Given the description of an element on the screen output the (x, y) to click on. 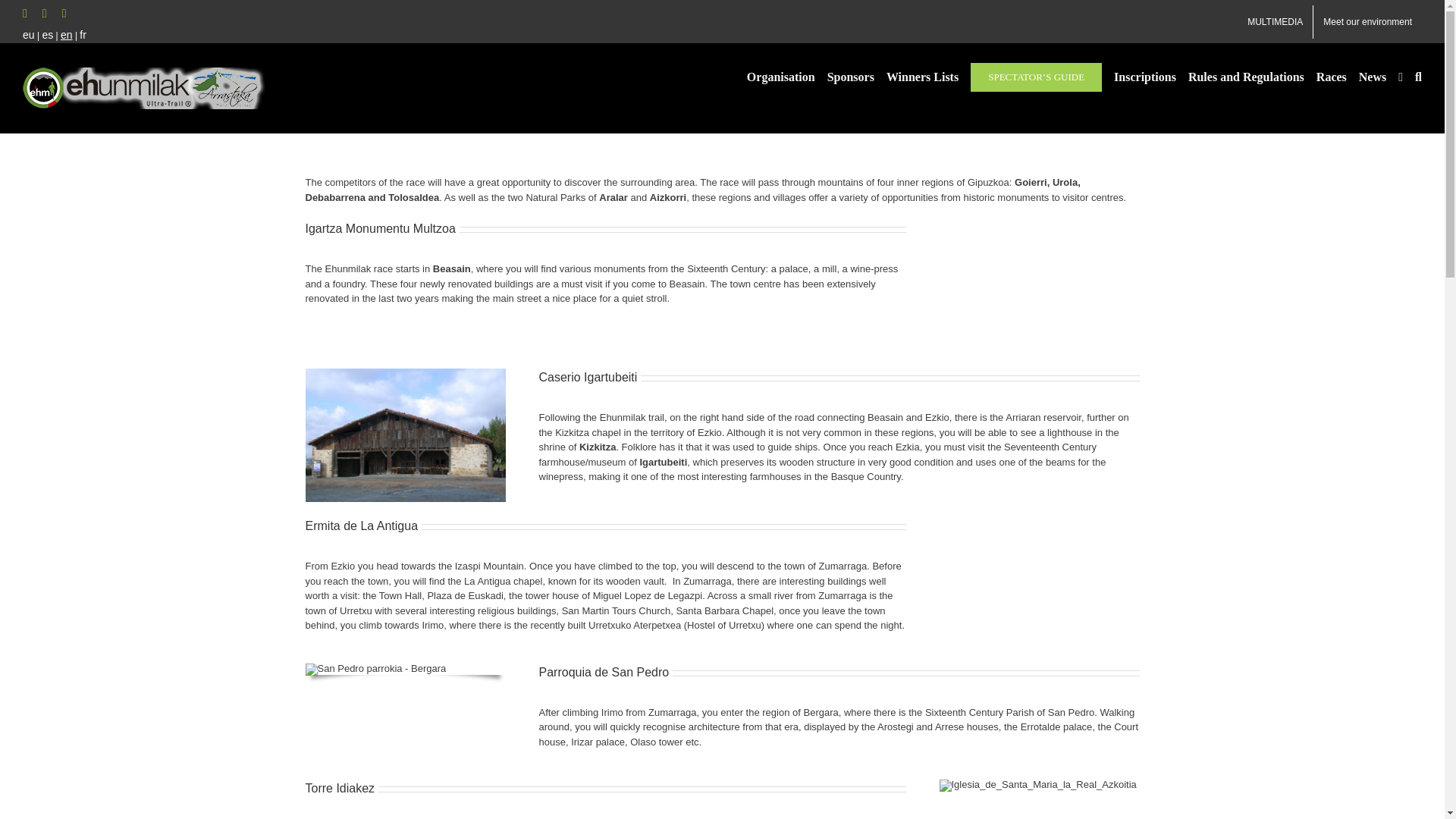
Organisation (780, 75)
Meet our environment (1367, 20)
es (47, 35)
Winners Lists (922, 75)
eu (28, 35)
MULTIMEDIA (1275, 20)
